Given the description of an element on the screen output the (x, y) to click on. 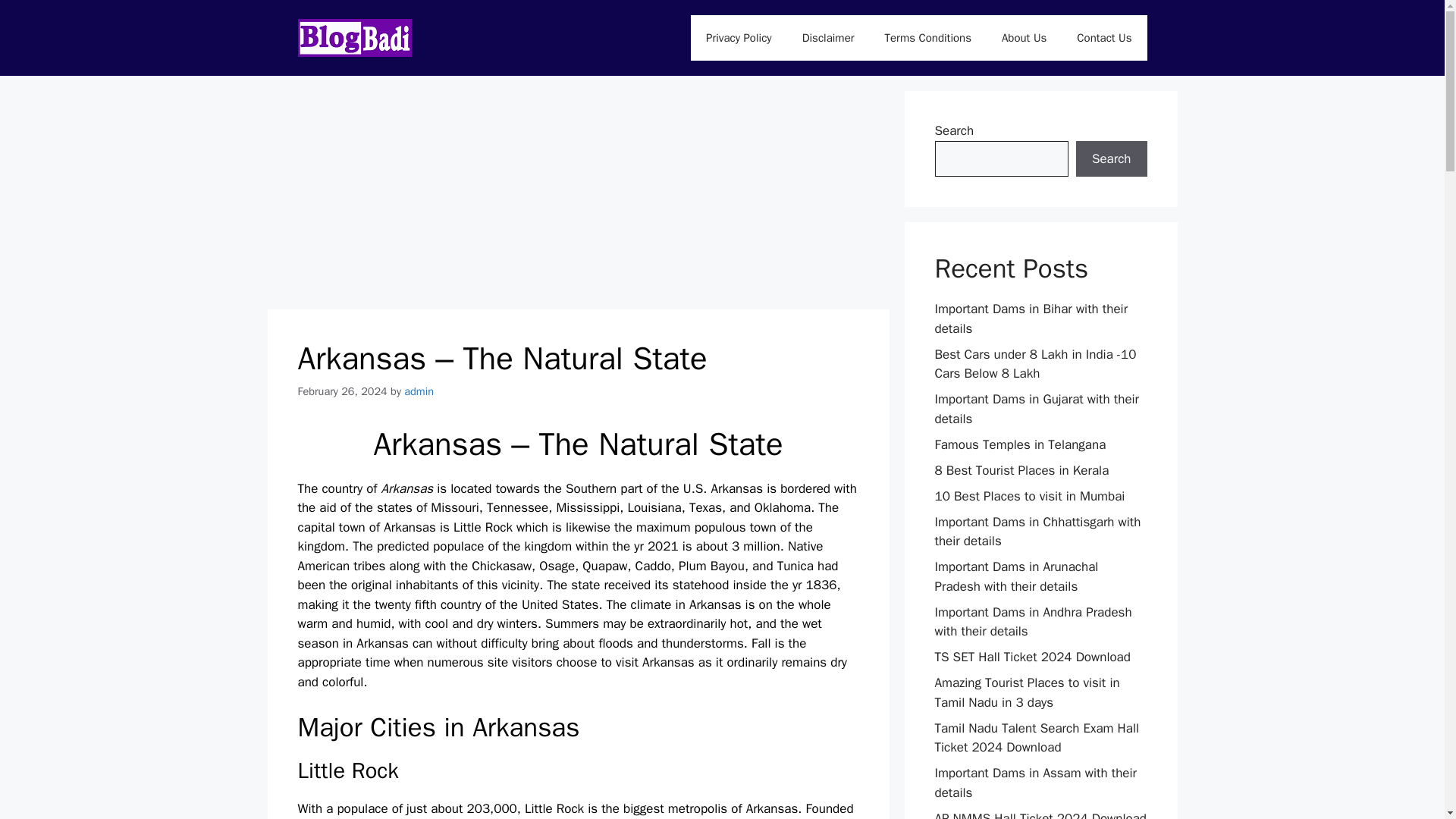
View all posts by admin (418, 391)
Important Dams in Gujarat with their details (1036, 408)
Disclaimer (828, 37)
Advertisement (577, 196)
TS SET Hall Ticket 2024 Download (1031, 657)
Privacy Policy (738, 37)
Important Dams in Assam with their details (1035, 782)
Important Dams in Arunachal Pradesh with their details (1015, 576)
Search (1111, 158)
Amazing Tourist Places to visit in Tamil Nadu in 3 days (1026, 692)
Terms Conditions (928, 37)
About Us (1024, 37)
Important Dams in Andhra Pradesh with their details (1032, 621)
Important Dams in Bihar with their details (1030, 318)
Tamil Nadu Talent Search Exam Hall Ticket 2024 Download (1036, 737)
